Given the description of an element on the screen output the (x, y) to click on. 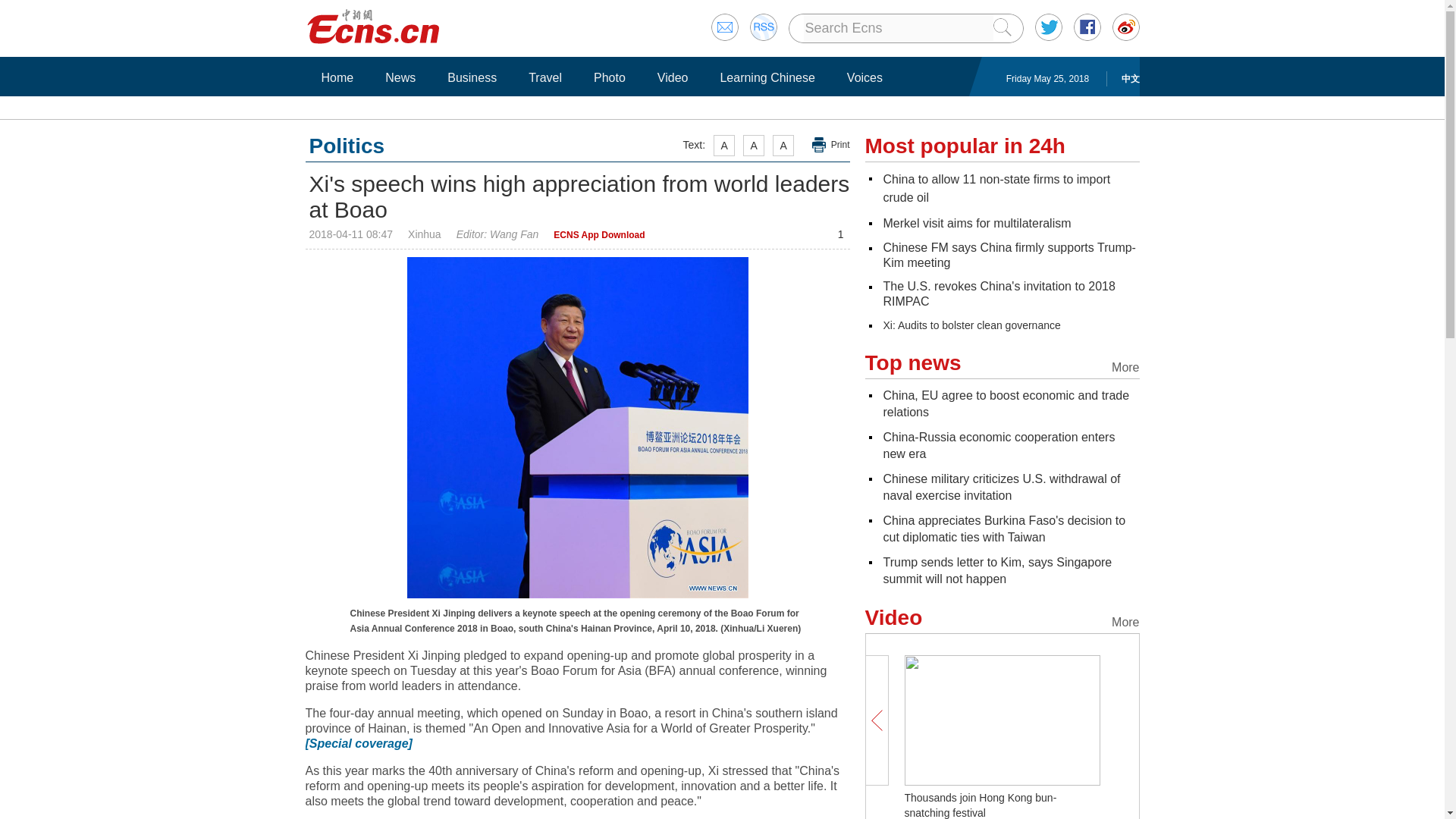
Business (472, 77)
The U.S. revokes China's invitation to 2018 RIMPAC (998, 293)
Search Ecns (897, 27)
Video (673, 77)
Chinese FM says China firmly supports Trump-Kim meeting (1008, 254)
Travel (544, 77)
ECNS App Download (599, 235)
Print (831, 144)
News (400, 77)
China to allow 11 non-state firms to import crude oil (995, 187)
Photo (609, 77)
Xi: Audits to bolster clean governance (970, 325)
Voices (864, 77)
Learning Chinese (766, 77)
Merkel visit aims for multilateralism (976, 223)
